Given the description of an element on the screen output the (x, y) to click on. 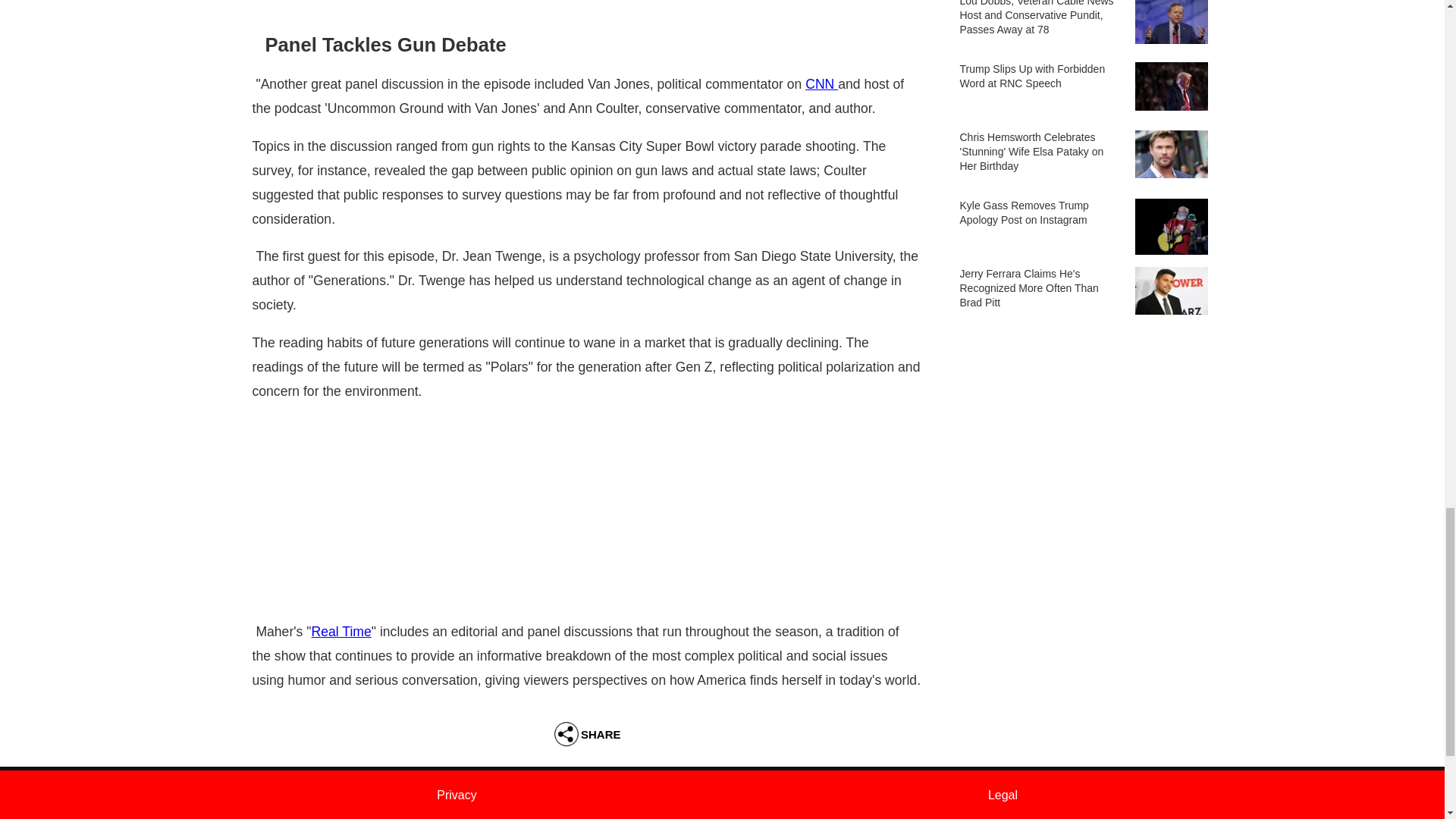
Real Time (341, 631)
CNN  (821, 83)
